Given the description of an element on the screen output the (x, y) to click on. 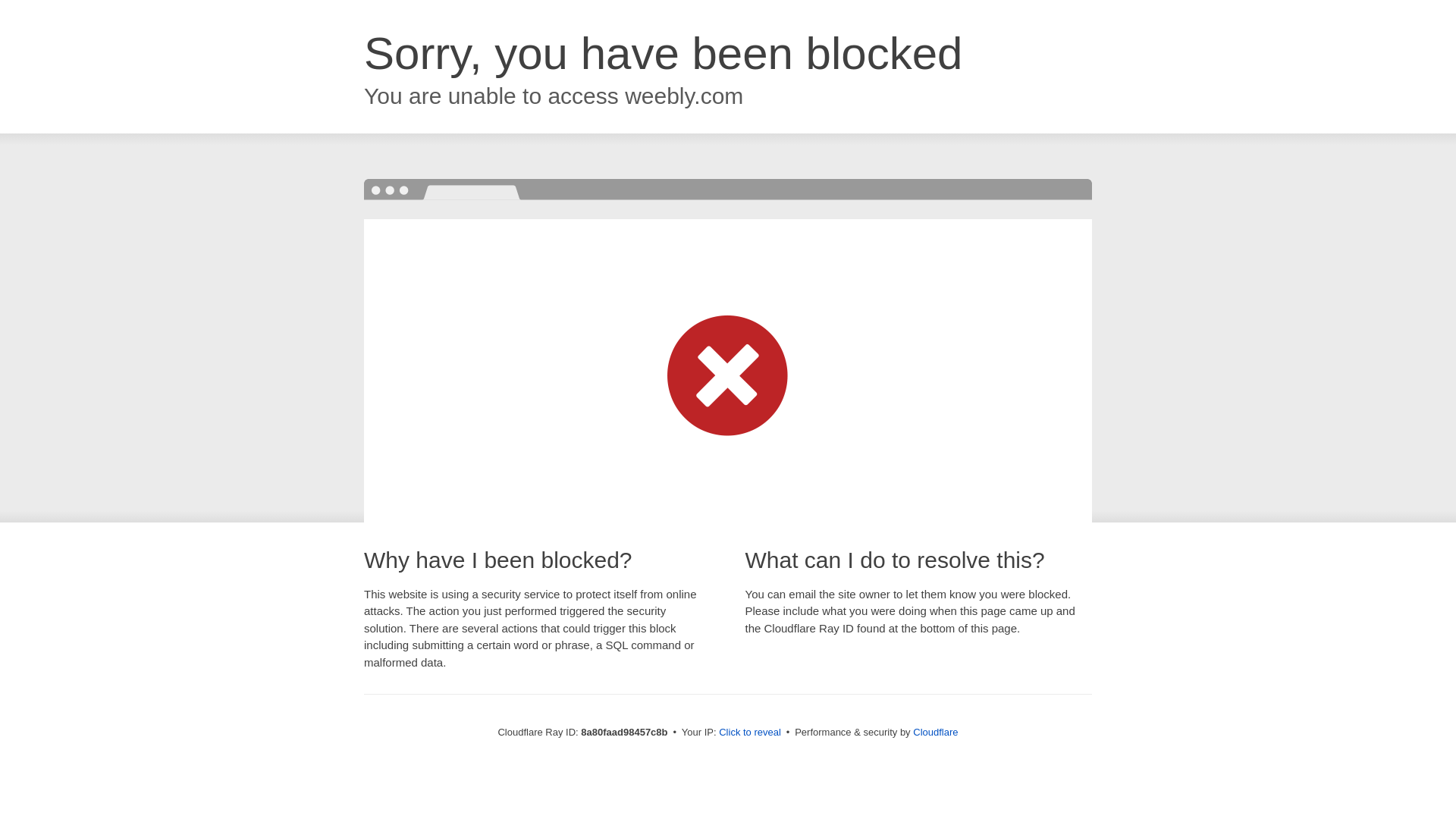
Cloudflare (935, 731)
Click to reveal (749, 732)
